Given the description of an element on the screen output the (x, y) to click on. 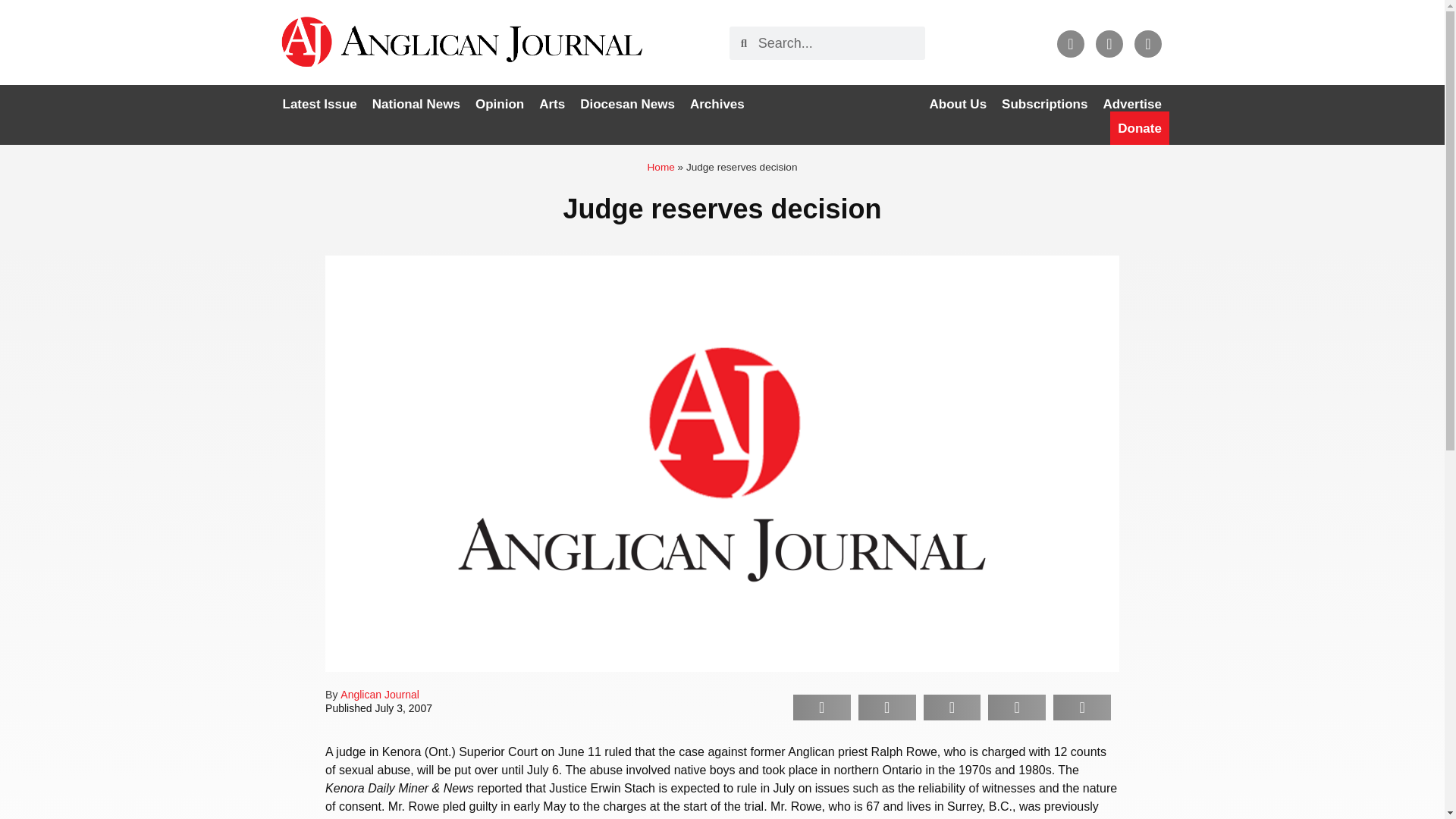
Archives (717, 104)
Subscriptions (1044, 104)
National News (416, 104)
Anglican Journal (379, 694)
Diocesan News (627, 104)
Opinion (499, 104)
Arts (551, 104)
About Us (957, 104)
Advertise (1131, 104)
Latest Issue (319, 104)
